Given the description of an element on the screen output the (x, y) to click on. 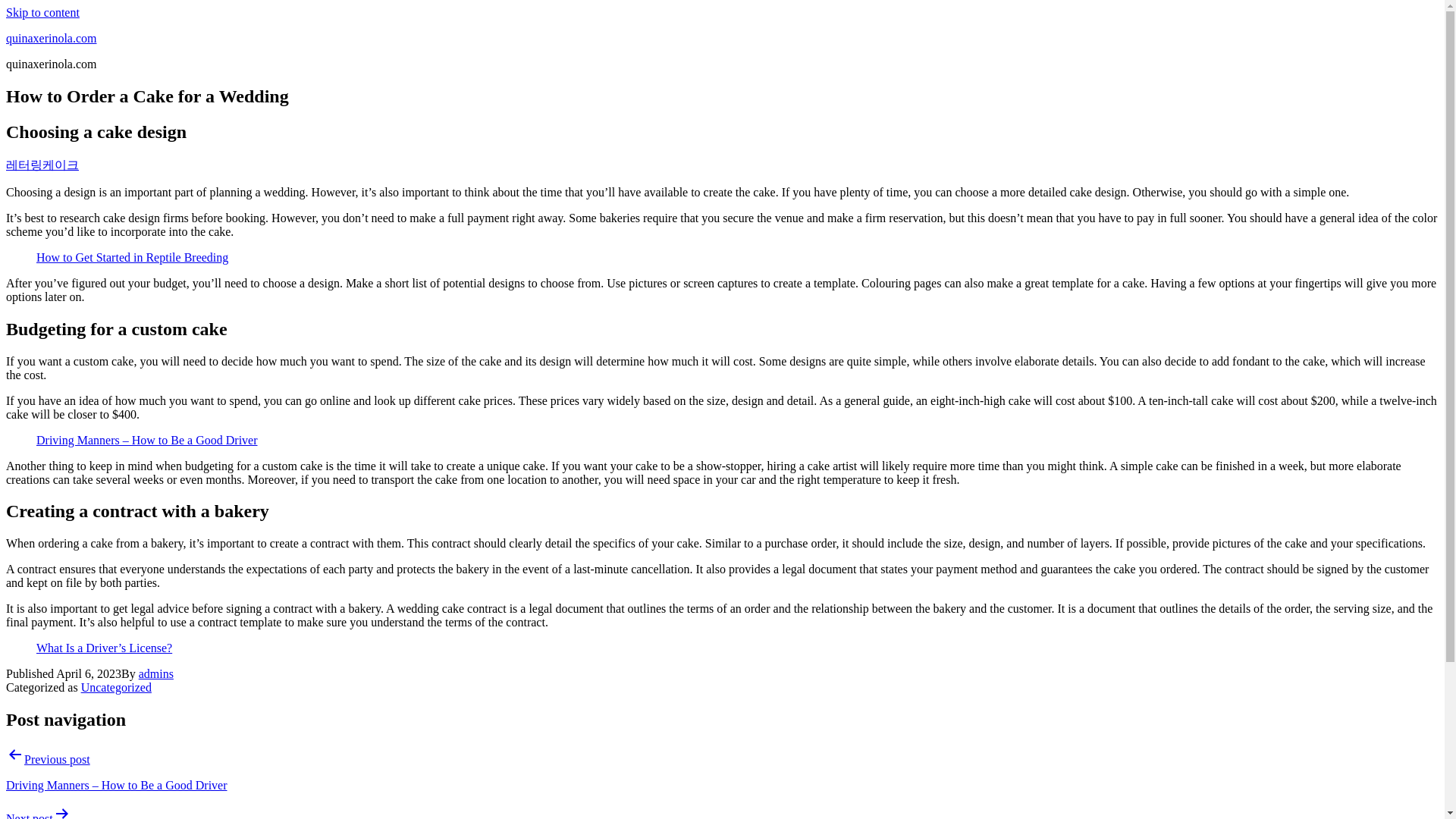
Skip to content (42, 11)
Uncategorized (116, 686)
How to Get Started in Reptile Breeding (132, 256)
admins (155, 673)
quinaxerinola.com (51, 38)
